Given the description of an element on the screen output the (x, y) to click on. 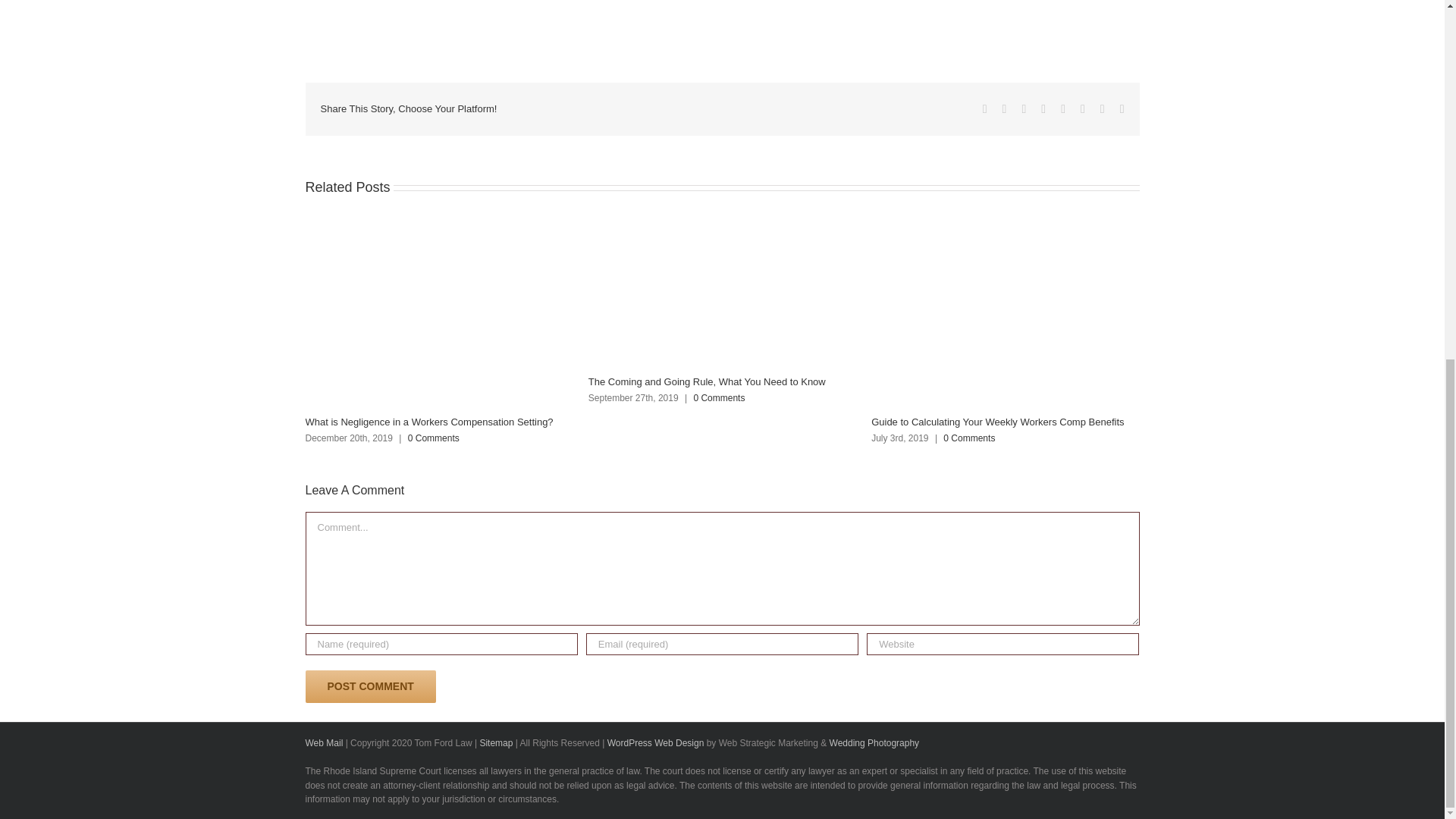
What is Negligence in a Workers Compensation Setting? (428, 421)
The Coming and Going Rule, What You Need to Know (706, 381)
Post Comment (369, 686)
Guide to Calculating Your Weekly Workers Comp Benefits (997, 421)
